Given the description of an element on the screen output the (x, y) to click on. 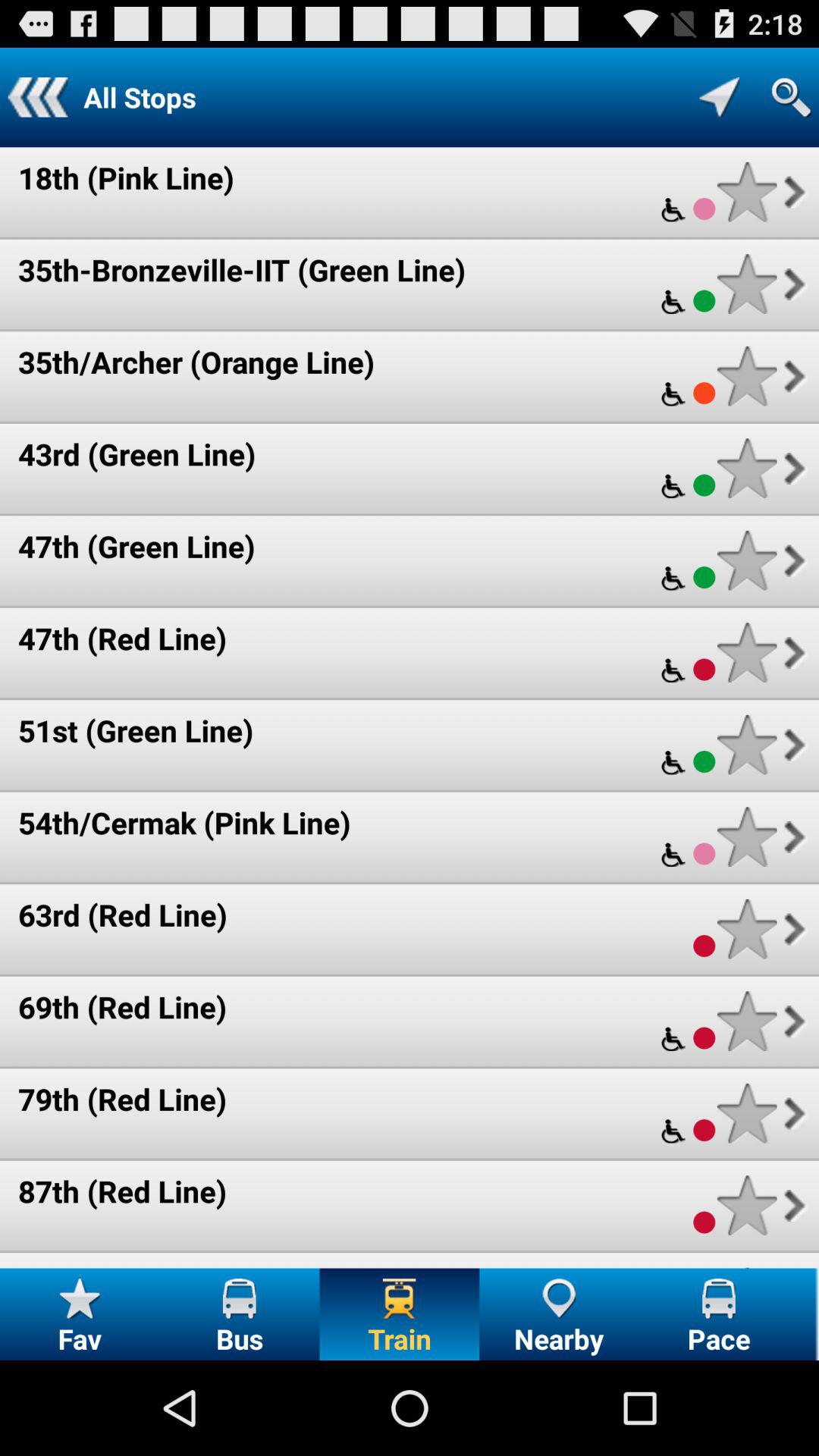
mark as favorite (746, 560)
